Given the description of an element on the screen output the (x, y) to click on. 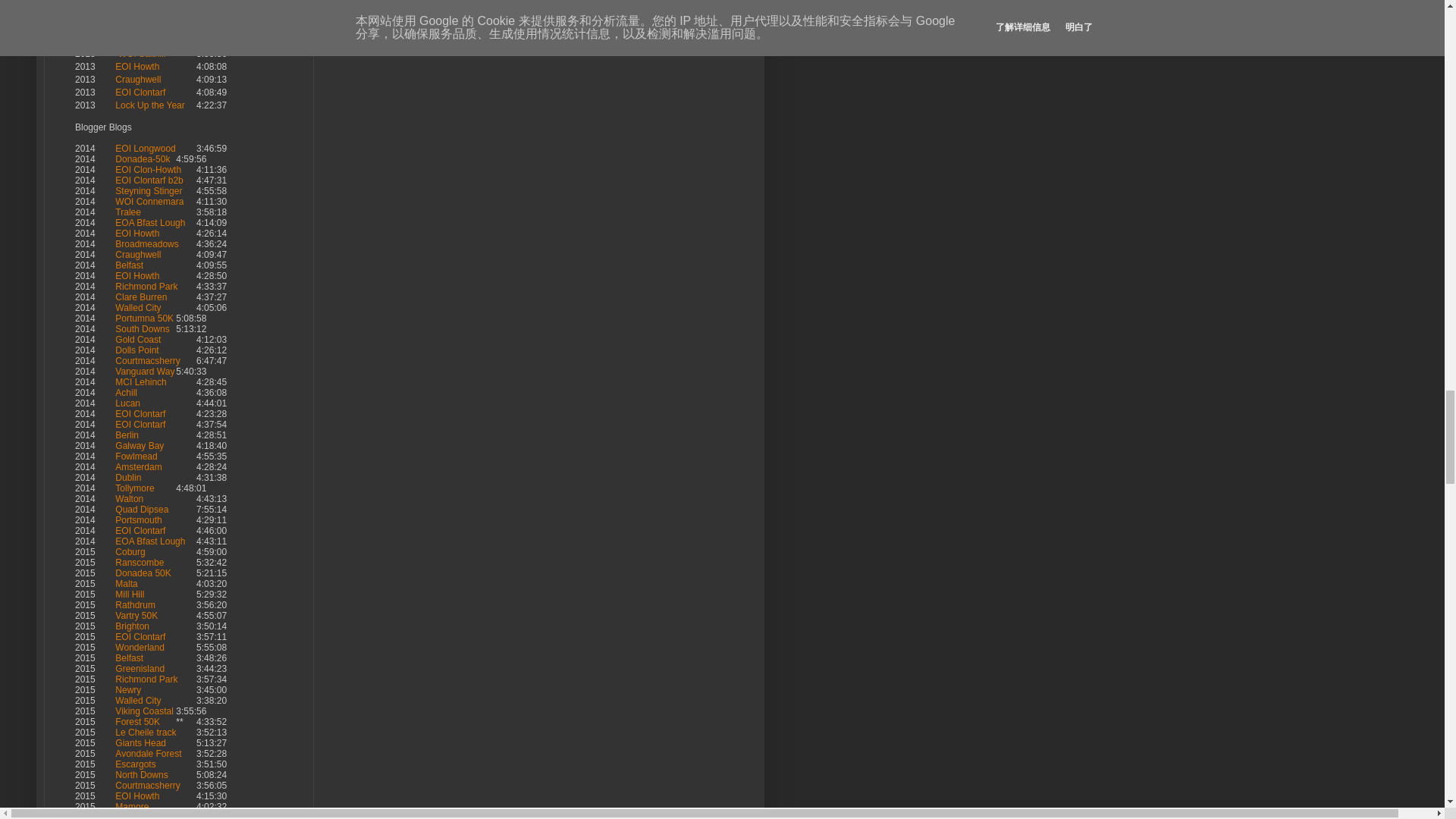
Nice to Cannes (146, 27)
Sixmilebridge (142, 40)
Dublin (128, 14)
Causeway Coast (149, 3)
WOI Salthill (140, 53)
